Given the description of an element on the screen output the (x, y) to click on. 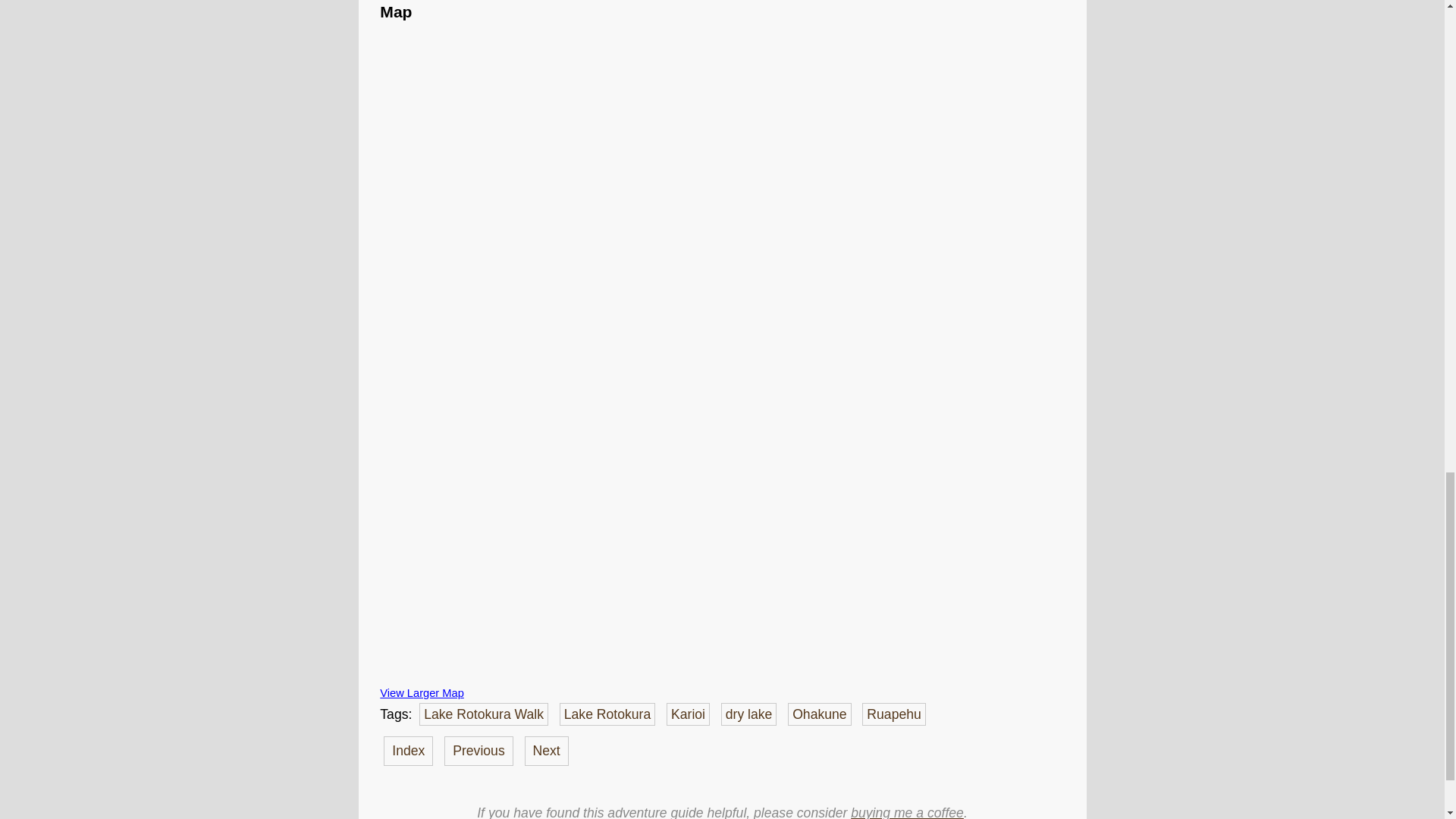
Lake Rotokura Walk (483, 713)
Ruapehu (892, 713)
Karioi (688, 713)
View Larger Map (422, 693)
Next (546, 750)
Previous (478, 750)
dry lake (748, 713)
Index (408, 750)
Ohakune (818, 713)
Lake Rotokura (607, 713)
